Given the description of an element on the screen output the (x, y) to click on. 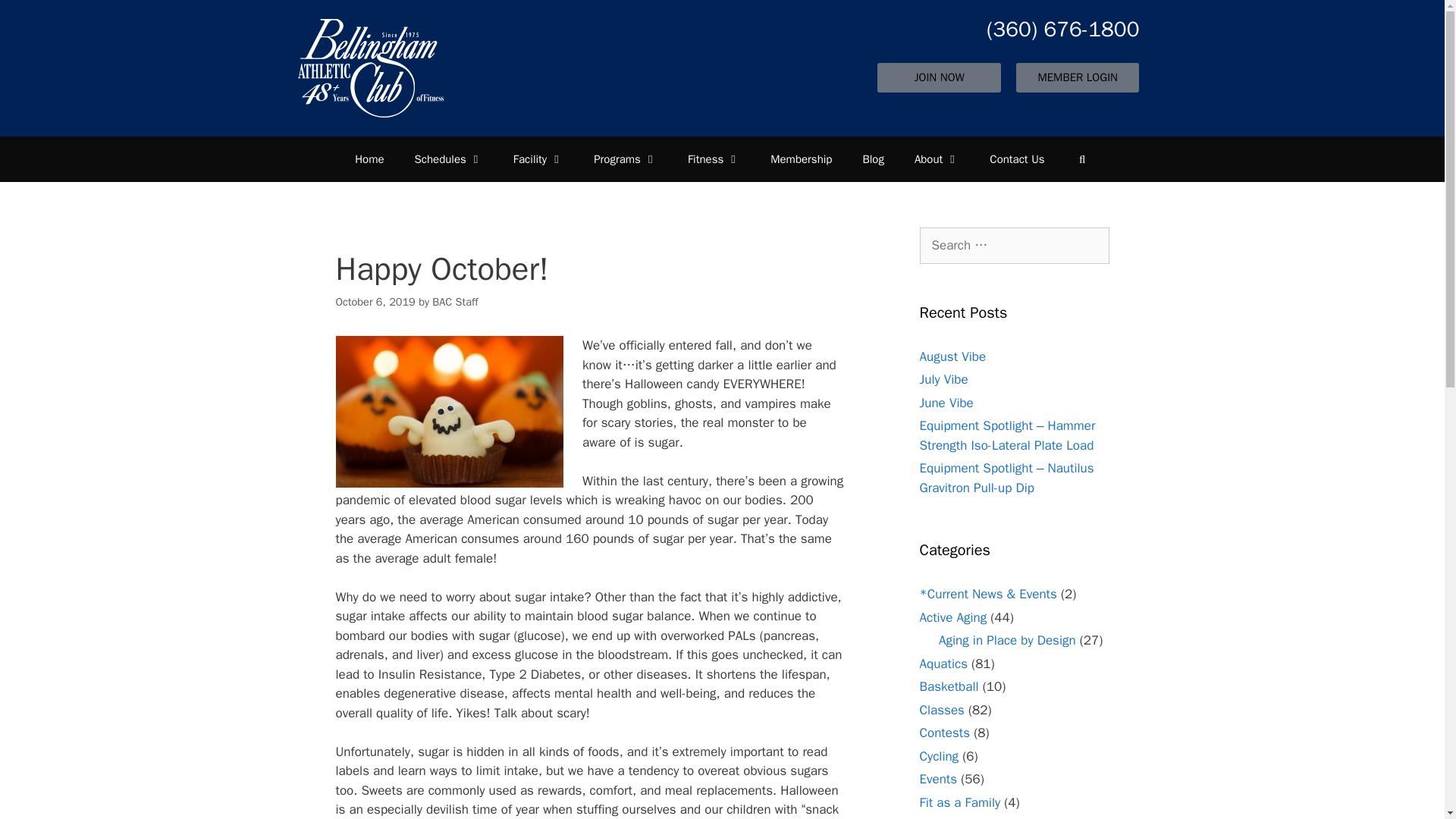
JOIN NOW (938, 77)
View all posts by BAC Staff (454, 301)
About (936, 158)
Blog (872, 158)
Schedules (447, 158)
Contact Us (1016, 158)
Home (368, 158)
Membership (801, 158)
Fitness (713, 158)
Facility (537, 158)
